Given the description of an element on the screen output the (x, y) to click on. 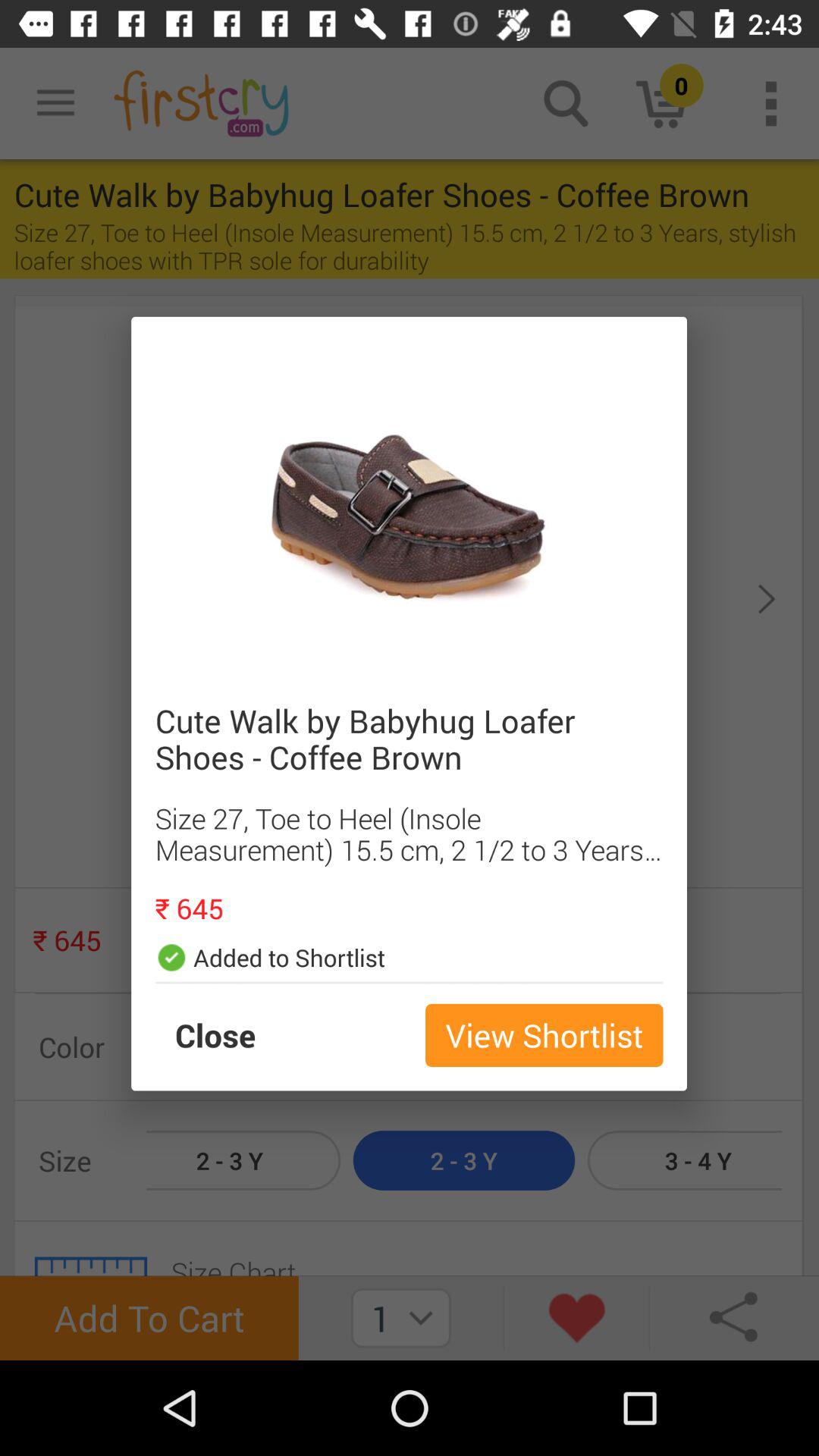
flip to the view shortlist (544, 1034)
